Given the description of an element on the screen output the (x, y) to click on. 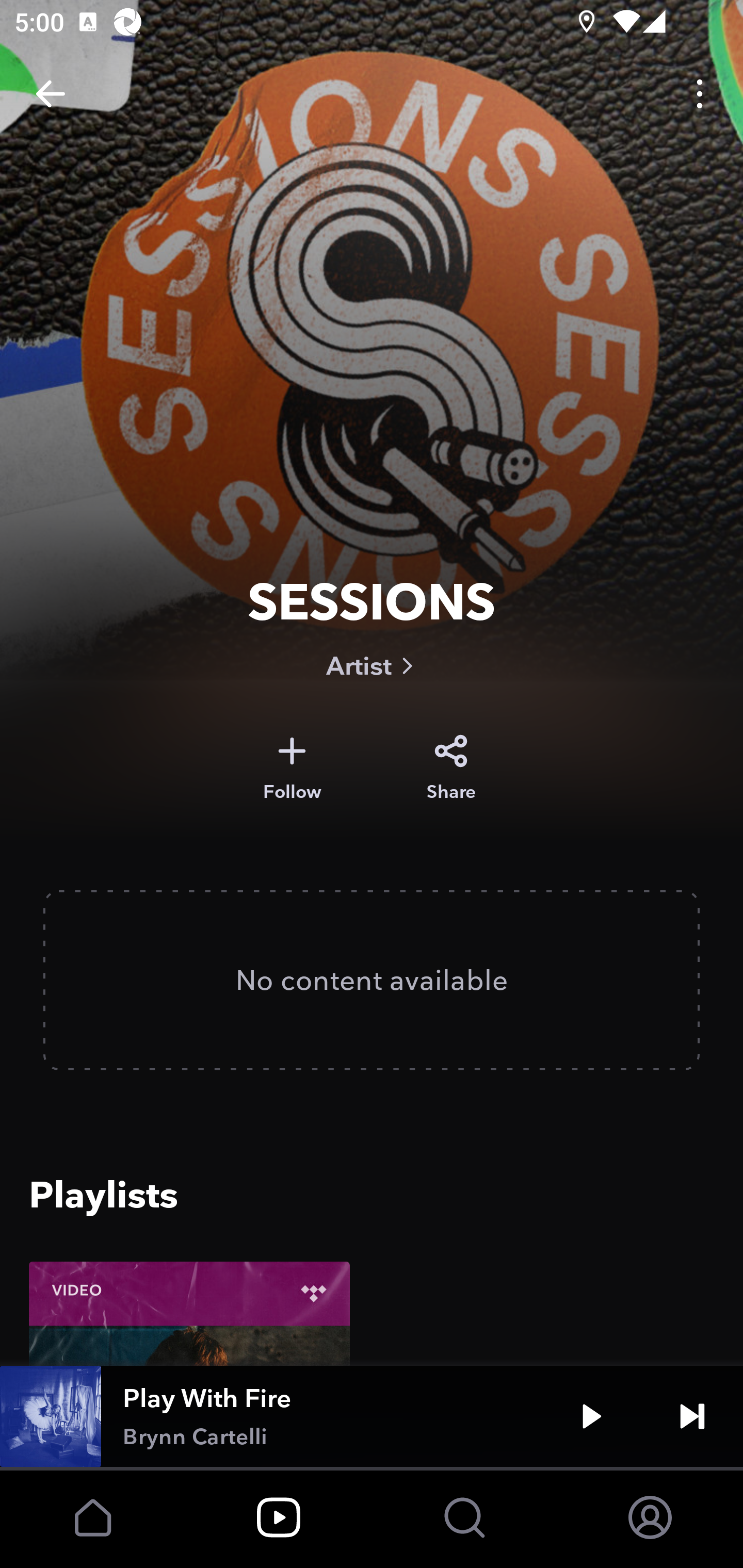
Options (699, 93)
Artist (371, 665)
Follow (291, 767)
Share (450, 767)
Play With Fire Brynn Cartelli Play (371, 1416)
Play (590, 1416)
